Given the description of an element on the screen output the (x, y) to click on. 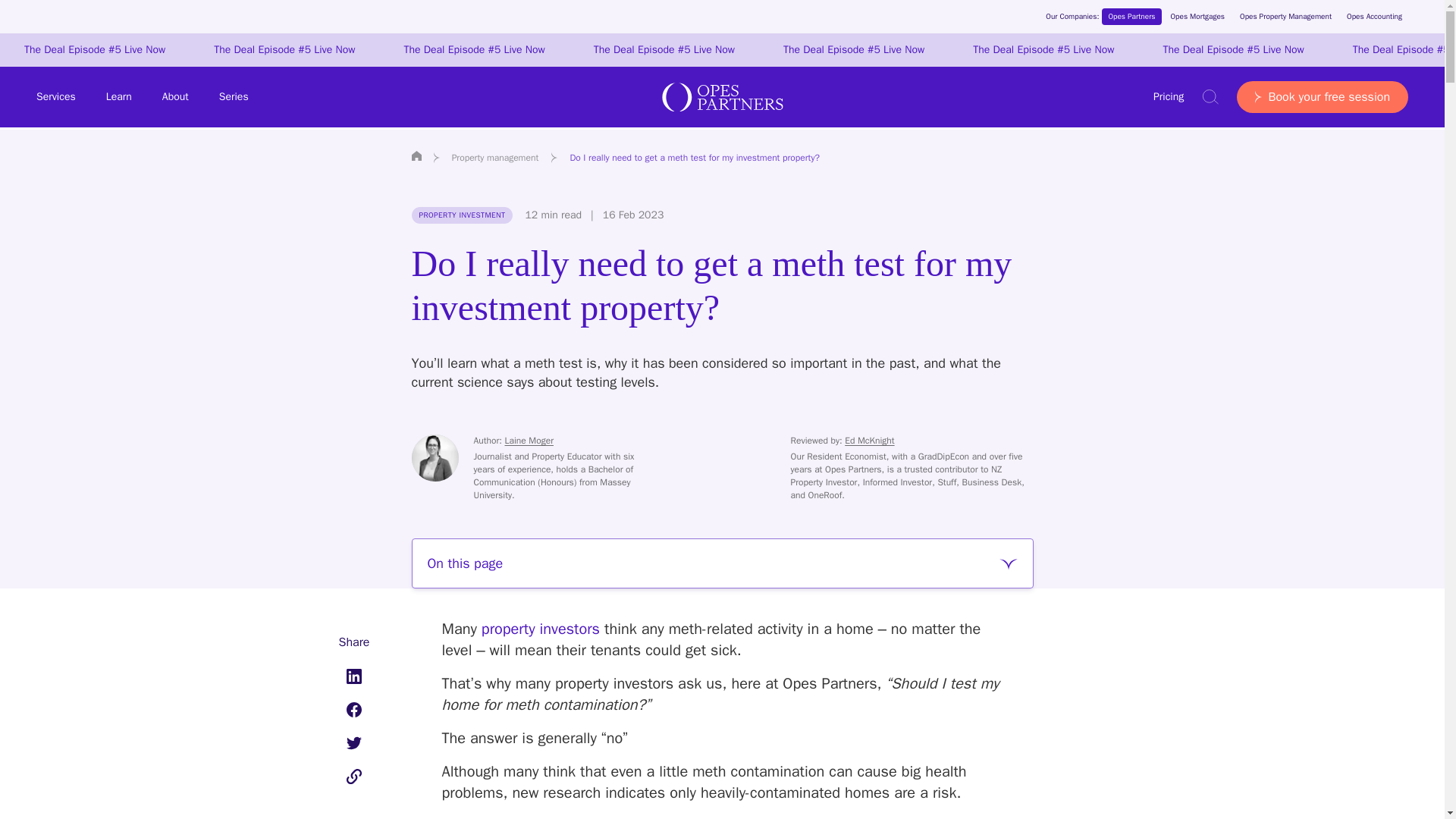
Book your free session (1321, 97)
Property management (495, 157)
Opes Partners (1131, 16)
Published on Thursday 16th February, 2023 (621, 215)
About (175, 96)
Learn (119, 96)
Pricing (1168, 97)
Opes Property Management (1285, 16)
Services (55, 96)
Opes Mortgages (1197, 16)
Series (233, 96)
Opes Accounting (1373, 16)
Homepage (415, 155)
